Given the description of an element on the screen output the (x, y) to click on. 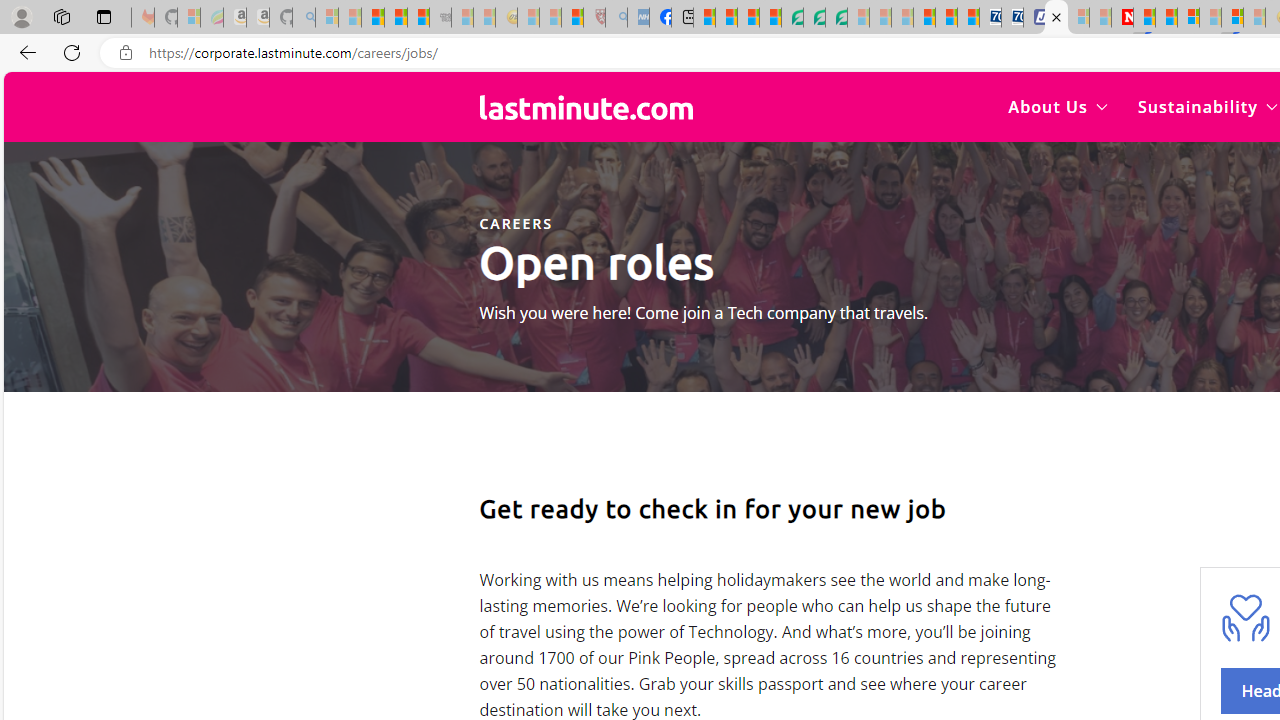
Cheap Hotels - Save70.com (1012, 17)
MSNBC - MSN (704, 17)
About Us (1058, 106)
Sustainability (1206, 106)
Refresh (72, 52)
Microsoft-Report a Concern to Bing - Sleeping (188, 17)
Terms of Use Agreement (814, 17)
About Us (1058, 106)
World - MSN (748, 17)
